Given the description of an element on the screen output the (x, y) to click on. 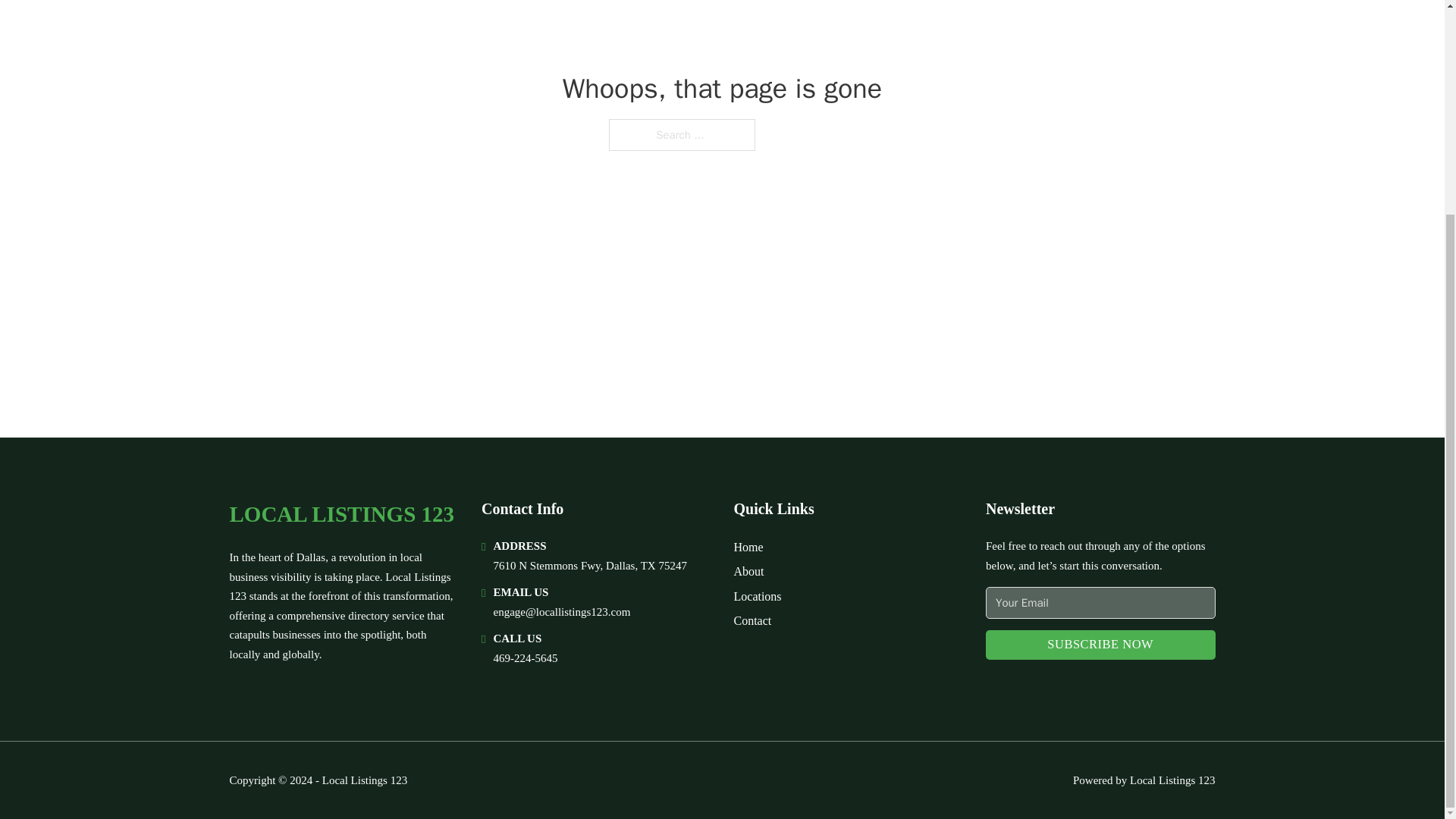
469-224-5645 (525, 657)
Home (747, 547)
About (748, 571)
Contact (752, 620)
Locations (757, 596)
LOCAL LISTINGS 123 (341, 514)
SUBSCRIBE NOW (1100, 644)
